Given the description of an element on the screen output the (x, y) to click on. 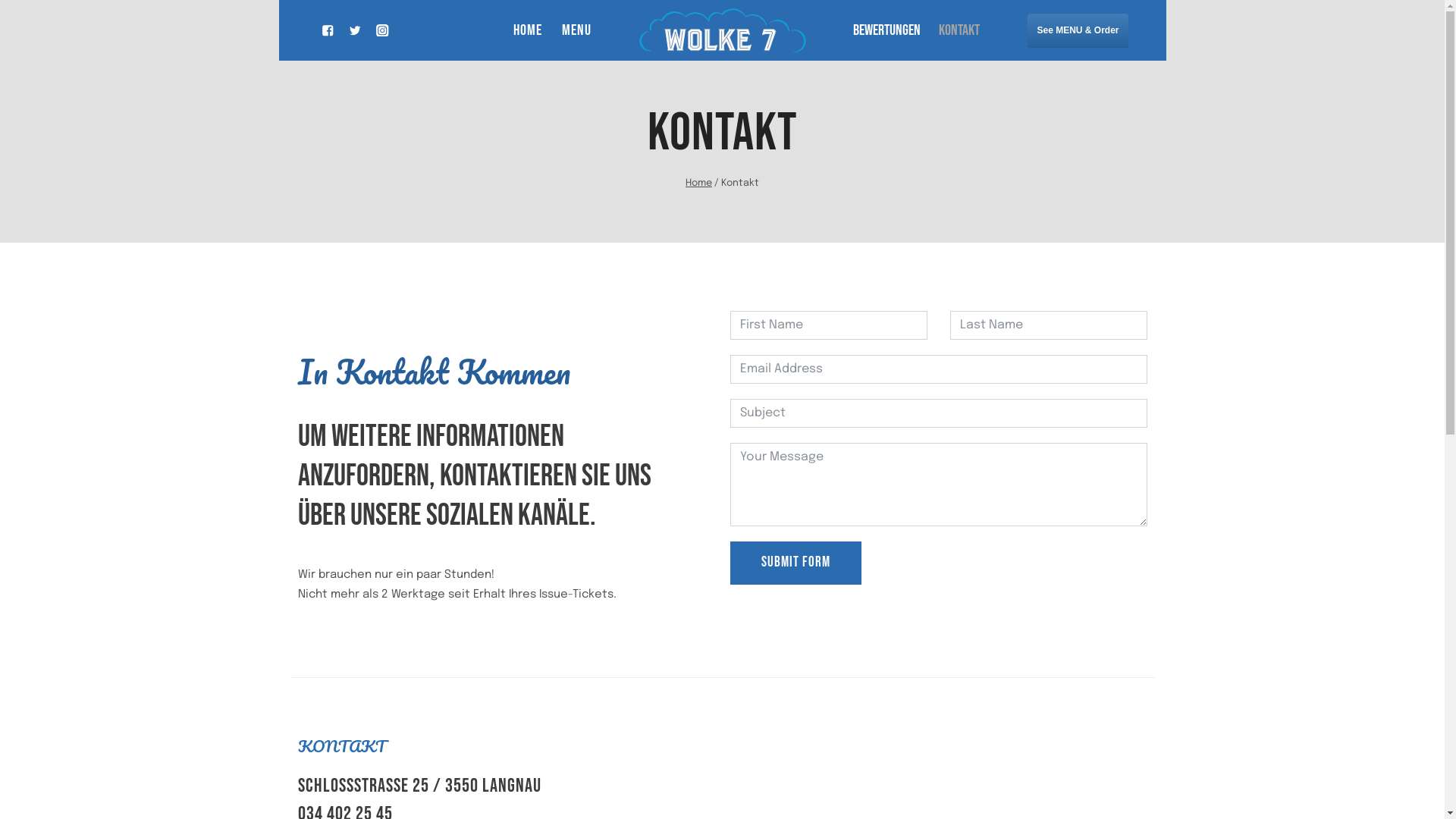
KONTAKT Element type: text (958, 30)
MENU Element type: text (576, 30)
Home Element type: text (698, 183)
HOME Element type: text (527, 30)
BEWERTUNGEN Element type: text (885, 30)
SUBMIT FORM Element type: text (794, 562)
